Given the description of an element on the screen output the (x, y) to click on. 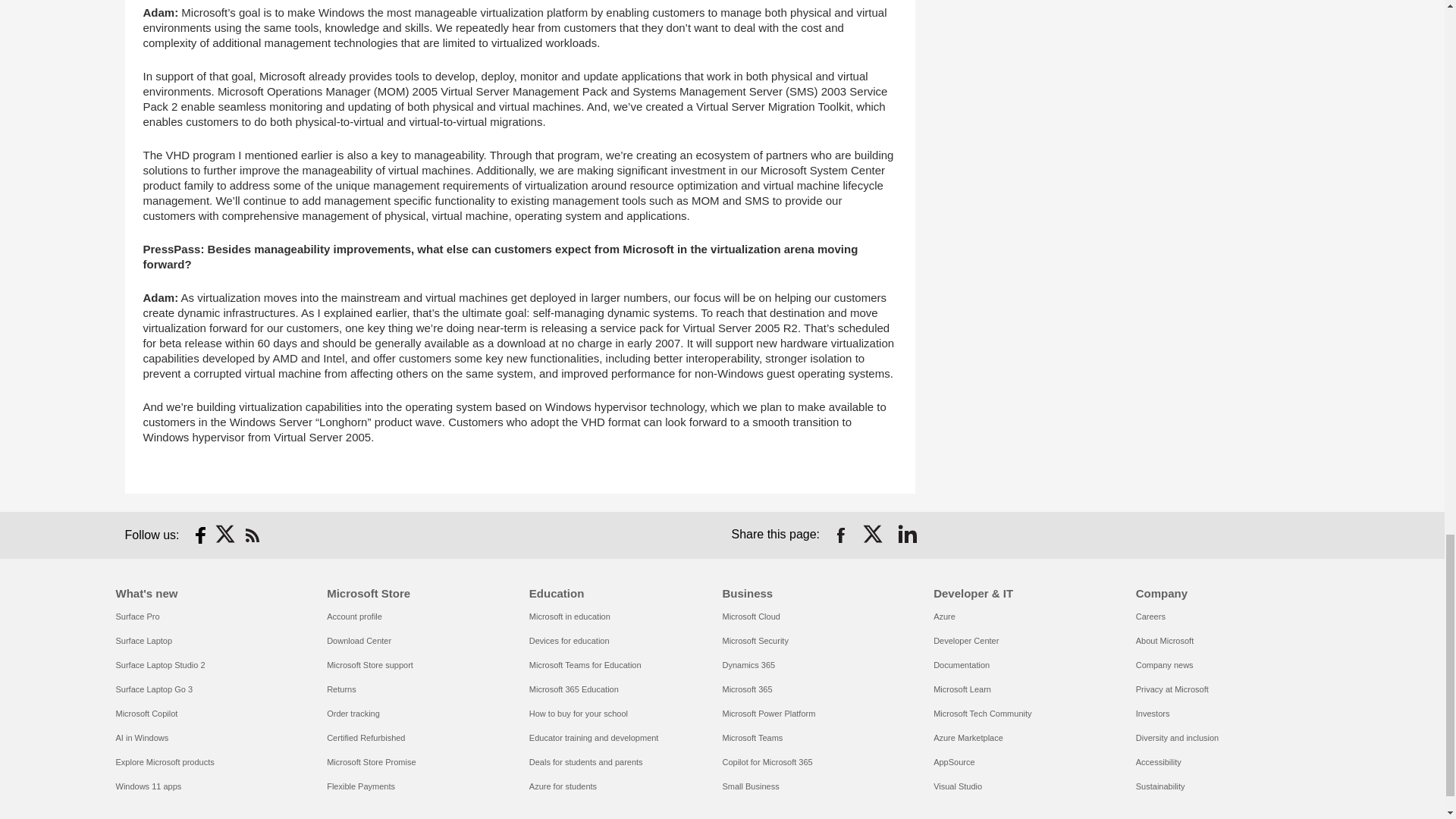
Share on Twitter (873, 535)
Follow on Facebook (200, 535)
RSS Subscription (252, 535)
Share on LinkedIn (907, 535)
Follow on Twitter (226, 535)
Share on Facebook (840, 535)
